Given the description of an element on the screen output the (x, y) to click on. 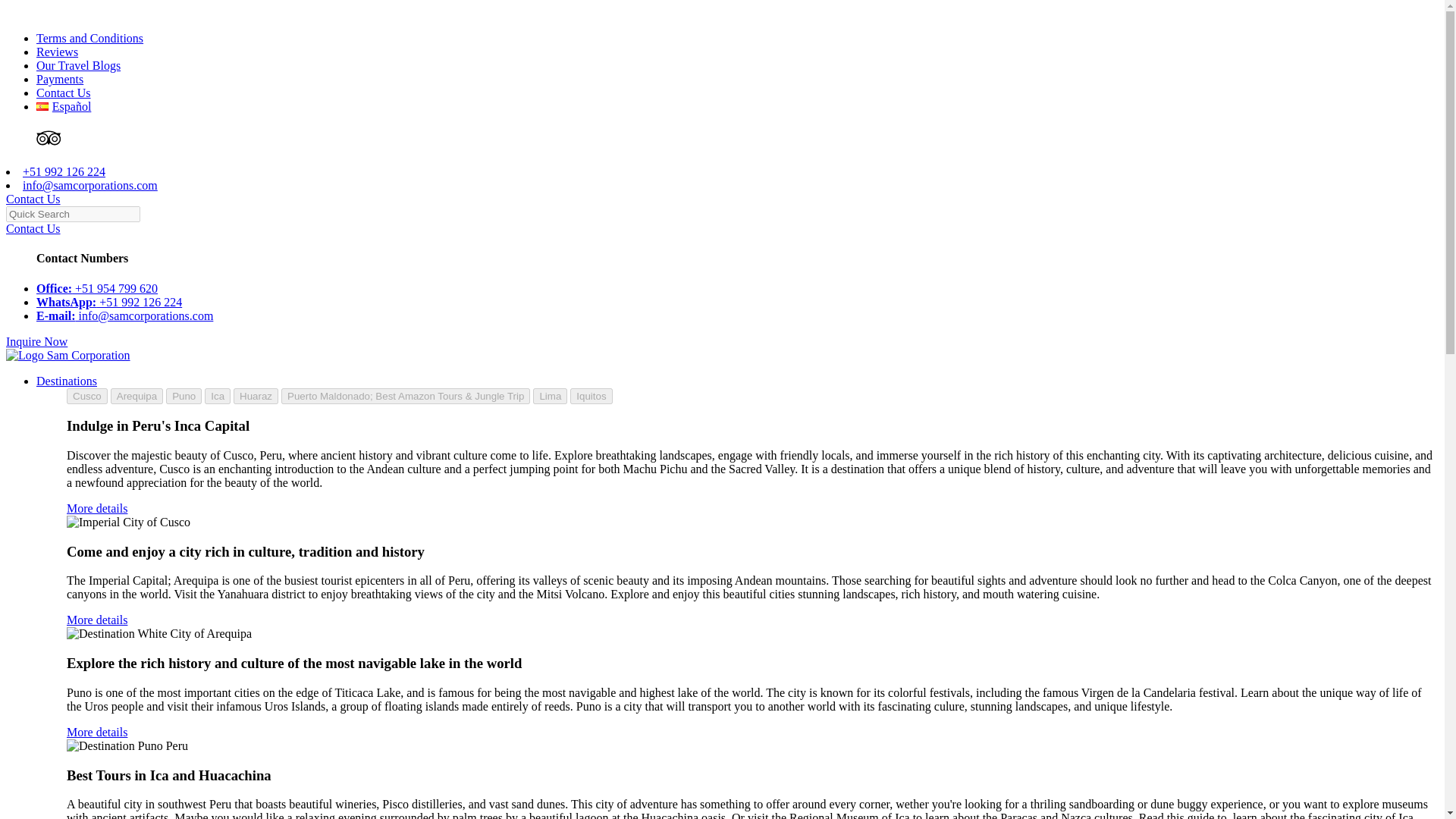
Lima (549, 396)
Ica (217, 396)
More details (97, 619)
Our Travel Blogs (78, 65)
Iquitos (590, 396)
Contact Us (63, 92)
More details (97, 731)
Huaraz (255, 396)
More details (97, 508)
Payments (59, 78)
